Given the description of an element on the screen output the (x, y) to click on. 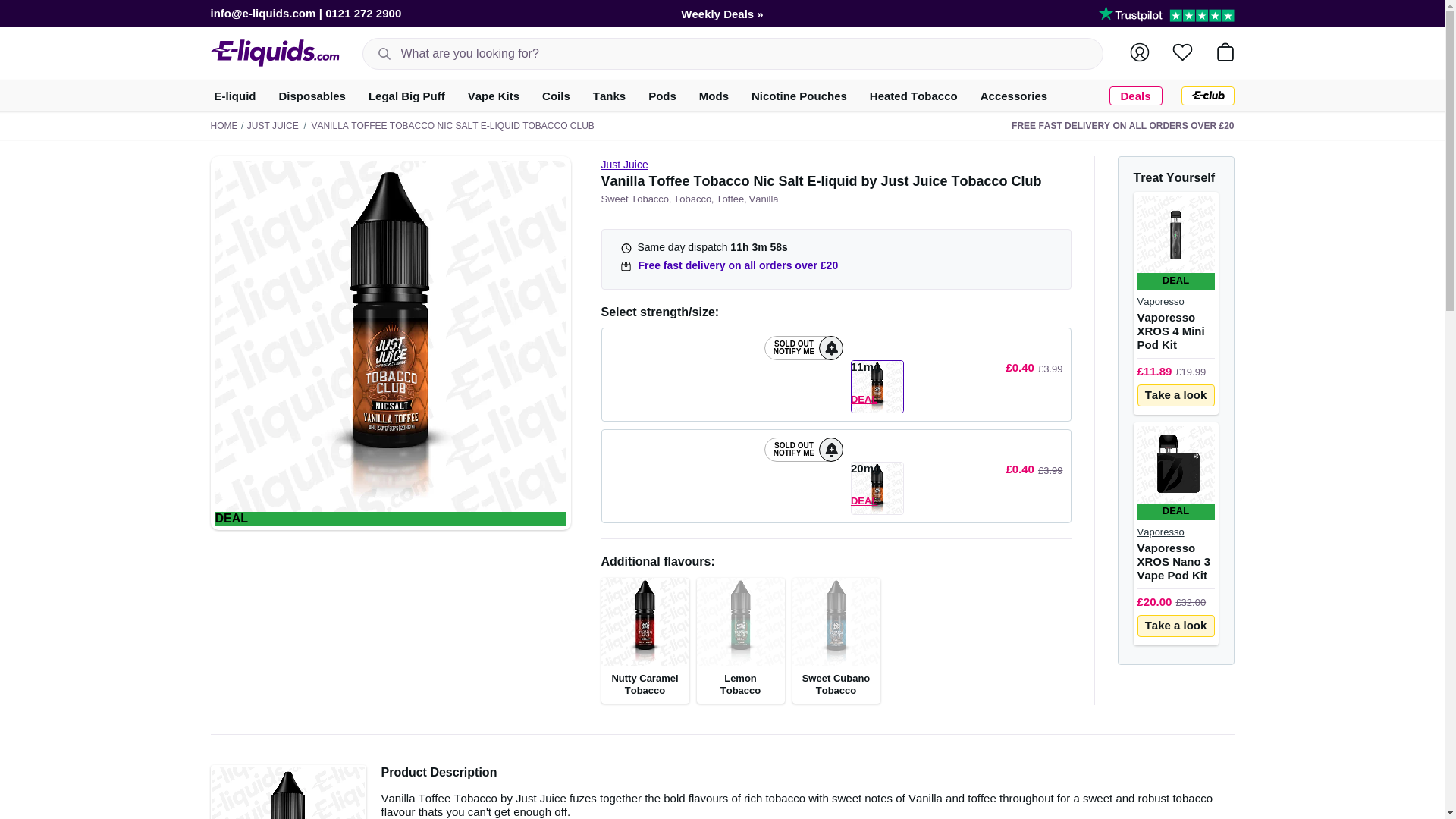
0121 272 2900 (362, 12)
E-liquid (235, 95)
Wish List Heart (1182, 51)
